Given the description of an element on the screen output the (x, y) to click on. 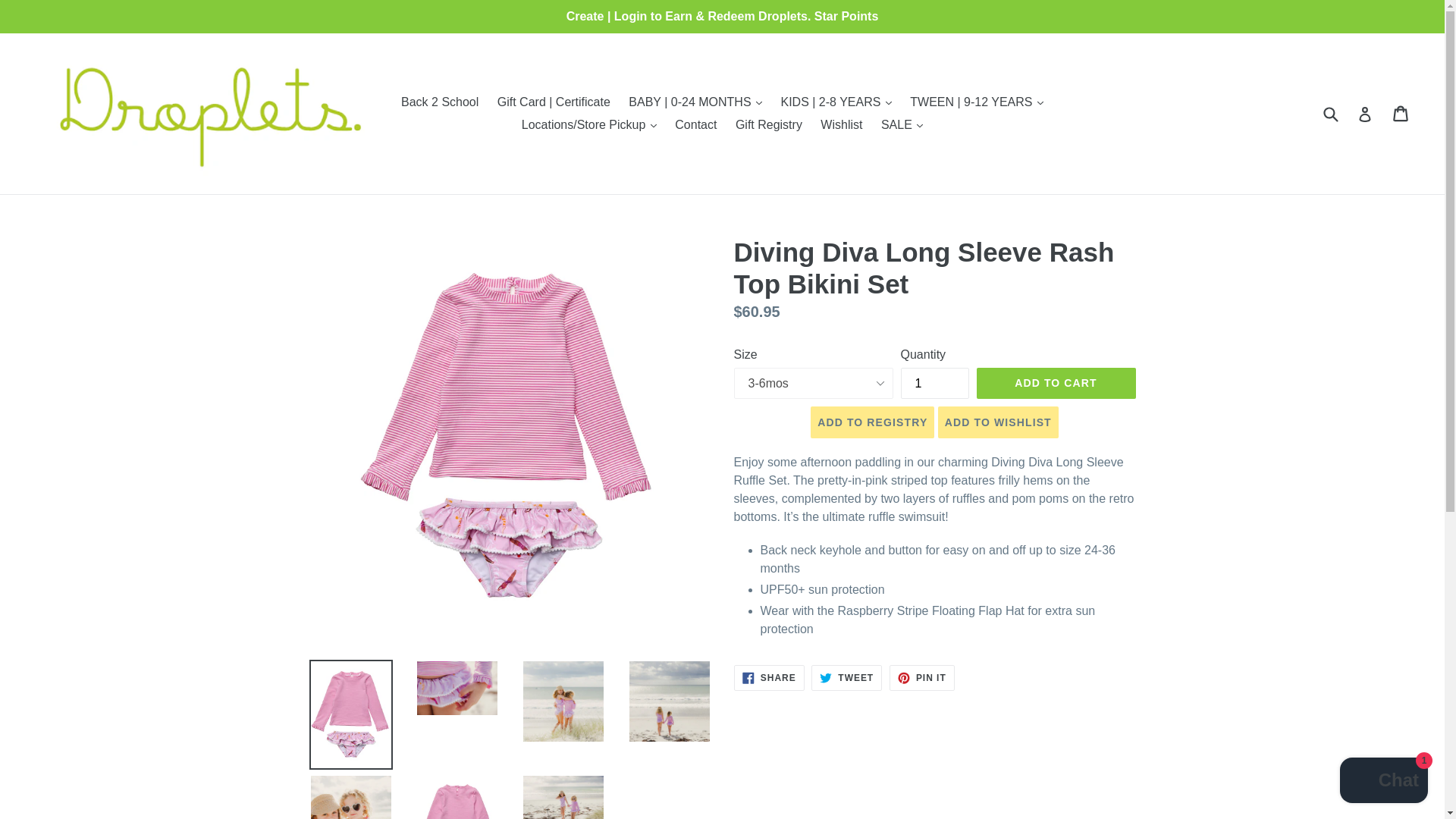
Tweet on Twitter (846, 678)
Pin on Pinterest (922, 678)
1 (935, 382)
Add to Registry (872, 422)
Add to Wishlist (997, 422)
Share on Facebook (769, 678)
Shopify online store chat (1383, 781)
